Given the description of an element on the screen output the (x, y) to click on. 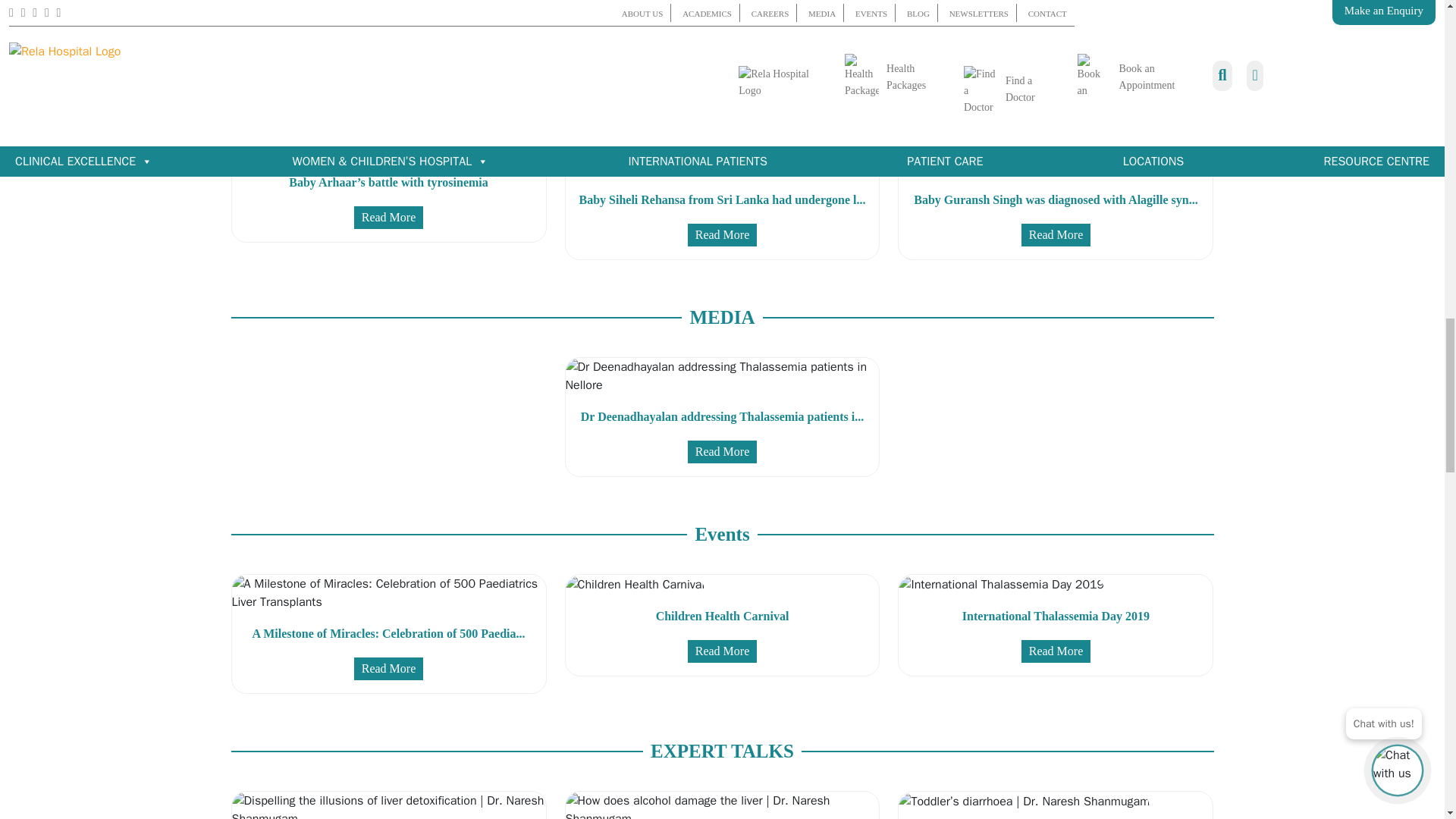
Baby Guransh Singh was diagnosed with Alagille syndrome (1055, 158)
Dr Deenadhayalan addressing Thalassemia patients in Nellore (722, 375)
Children Health Carnival (635, 584)
